Given the description of an element on the screen output the (x, y) to click on. 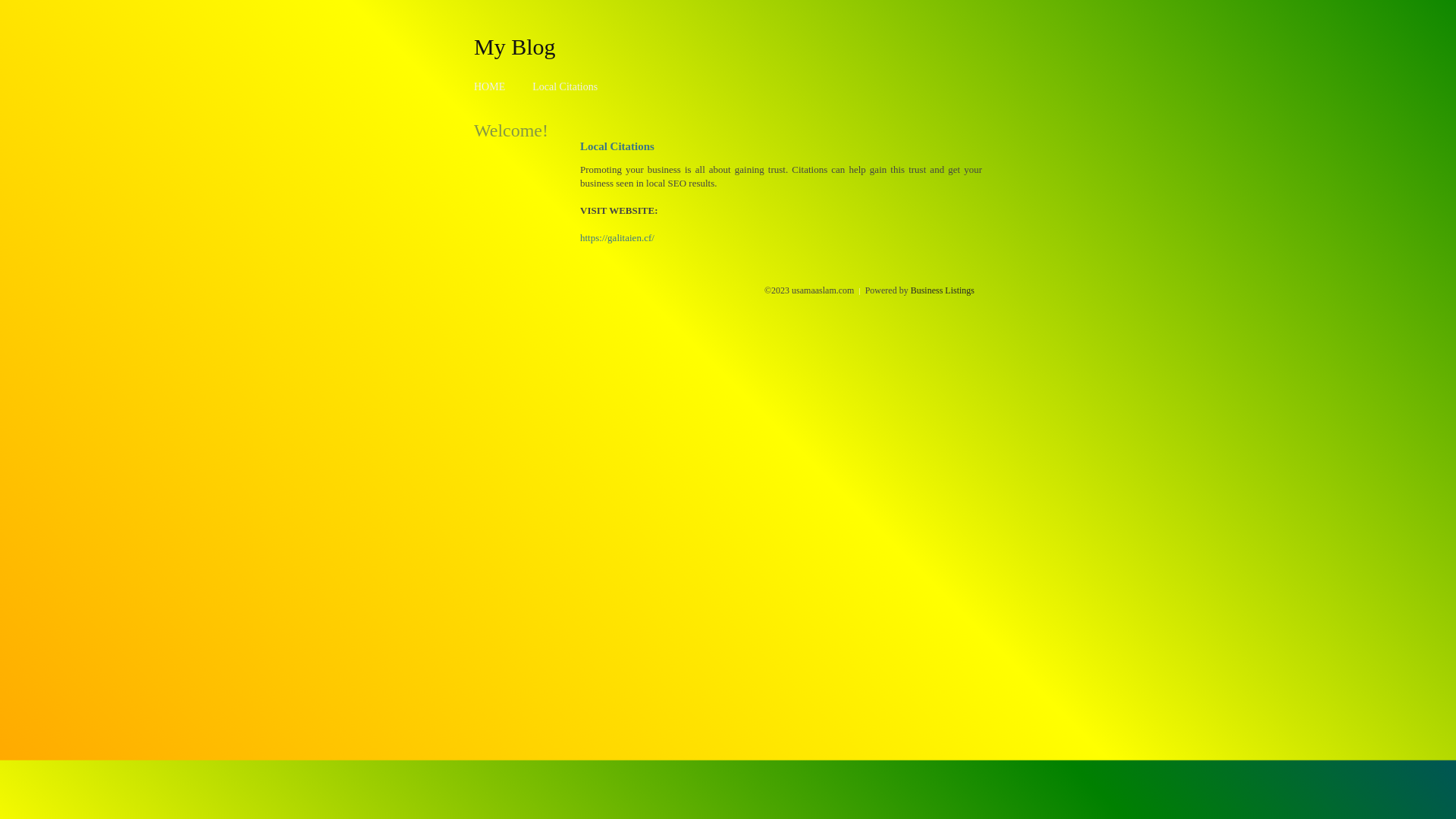
Business Listings Element type: text (942, 290)
https://galitaien.cf/ Element type: text (617, 237)
HOME Element type: text (489, 86)
Local Citations Element type: text (564, 86)
My Blog Element type: text (514, 46)
